Given the description of an element on the screen output the (x, y) to click on. 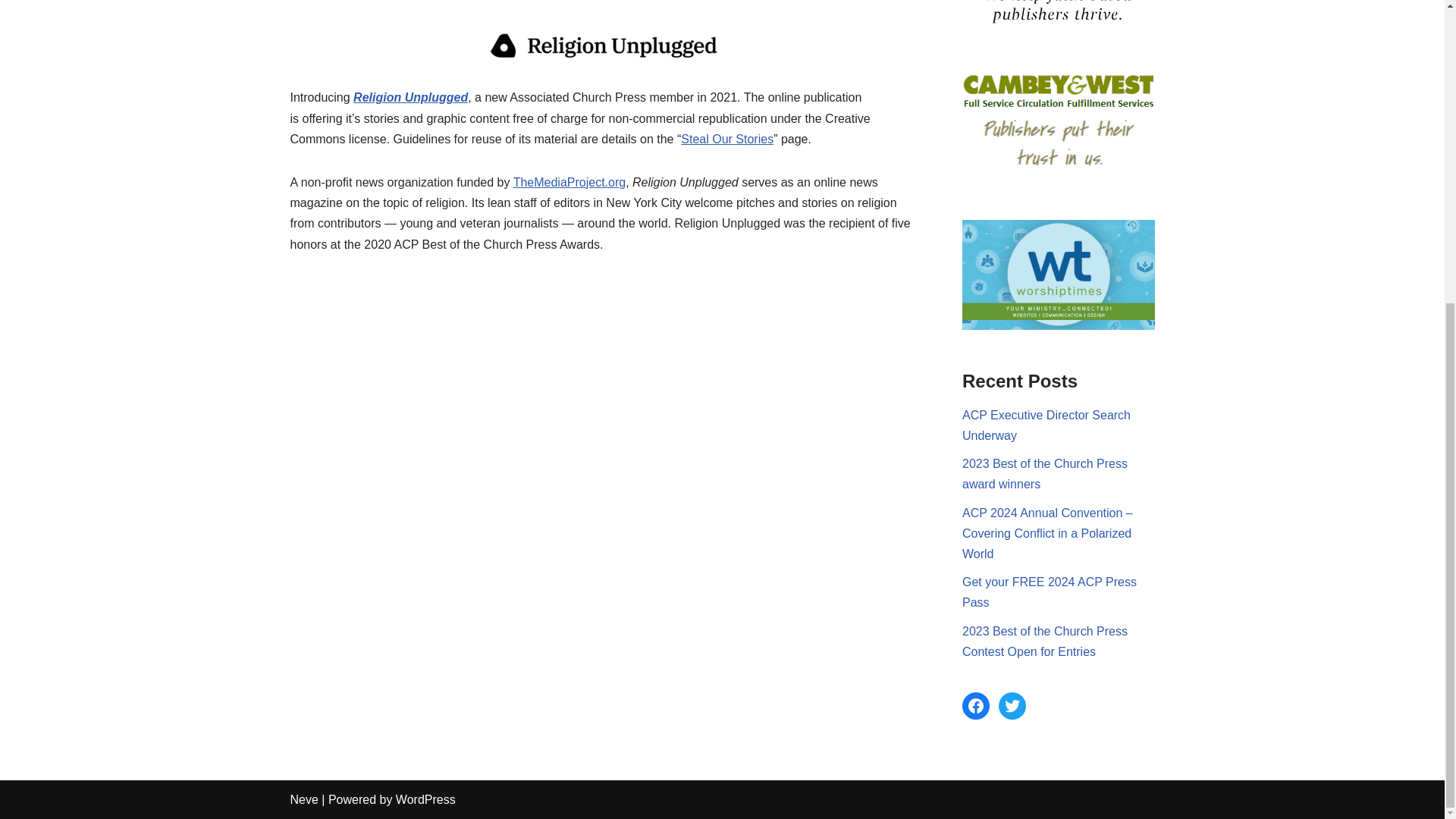
Neve (303, 799)
Steal Our Stories (727, 138)
Religion Unplugged (410, 97)
2023 Best of the Church Press Contest Open for Entries (1044, 641)
TheMediaProject.org (569, 182)
ACP Executive Director Search Underway (1046, 425)
2023 Best of the Church Press award winners (1044, 473)
WordPress (425, 799)
Get your FREE 2024 ACP Press Pass (1049, 592)
